Given the description of an element on the screen output the (x, y) to click on. 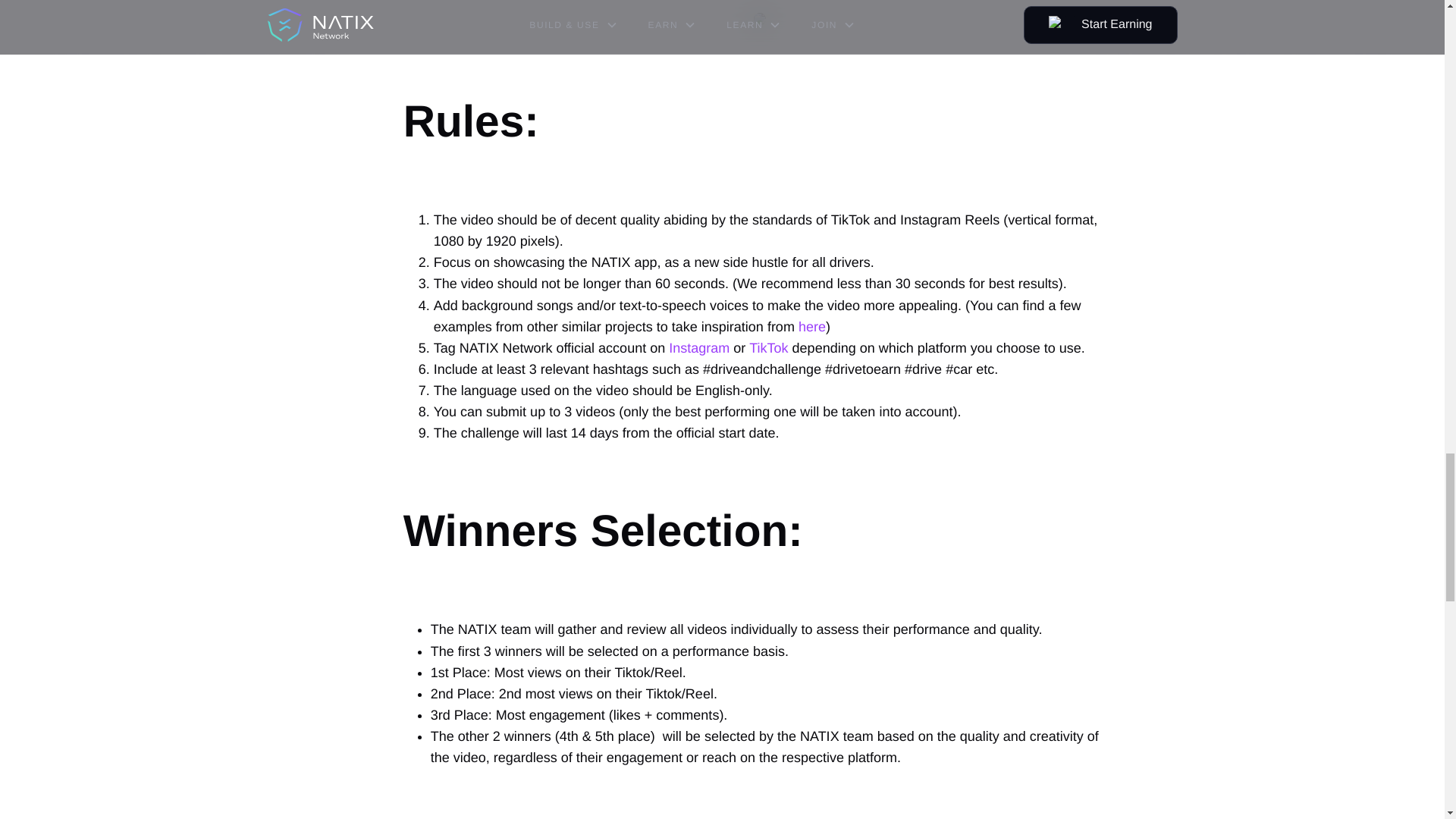
Instagram (698, 347)
here (811, 326)
TikTok (768, 347)
